Given the description of an element on the screen output the (x, y) to click on. 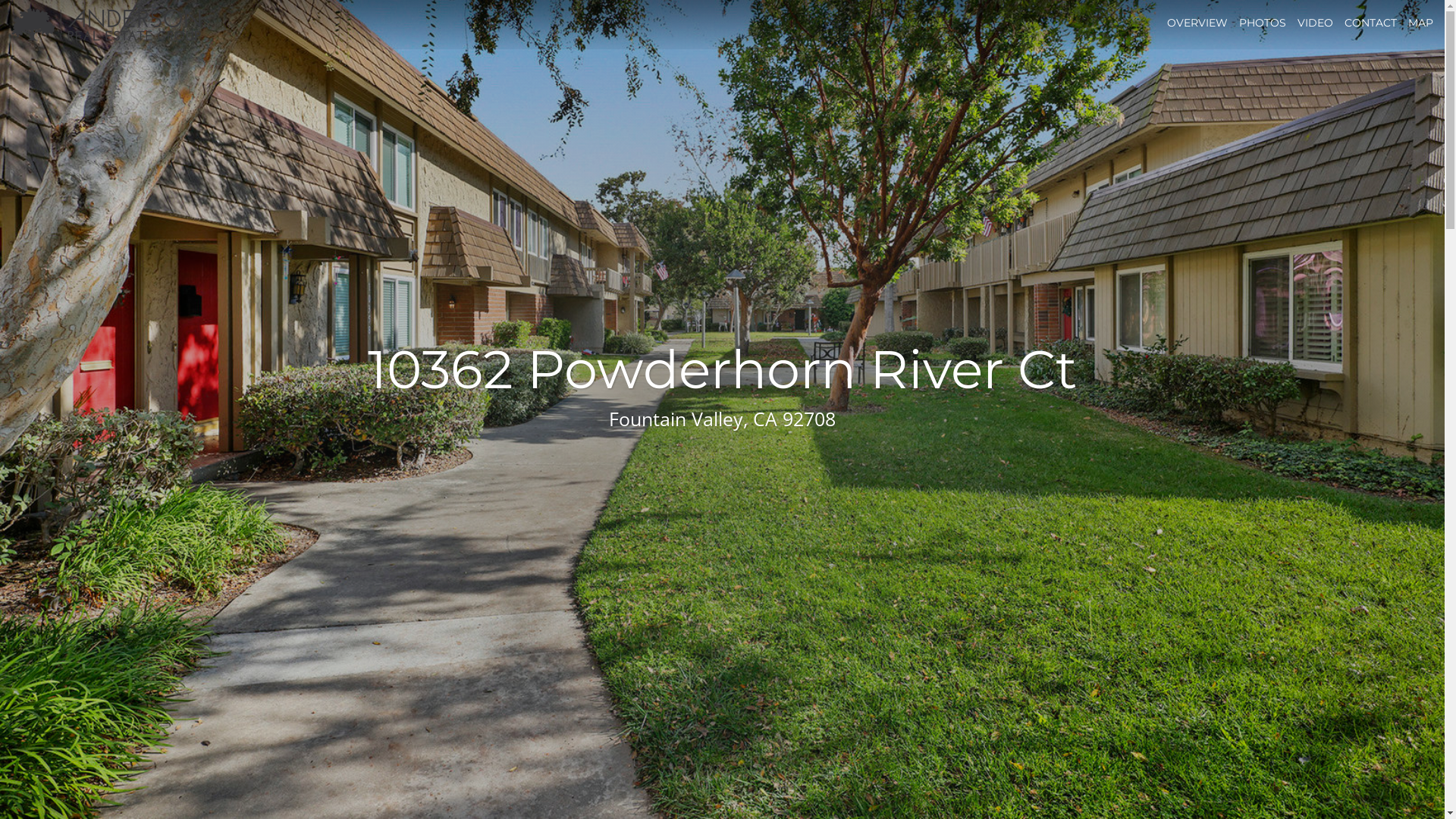
MAP Element type: text (1420, 22)
PHOTOS Element type: text (1262, 22)
VIDEO Element type: text (1315, 22)
CONTACT Element type: text (1370, 22)
OVERVIEW Element type: text (1197, 22)
